Given the description of an element on the screen output the (x, y) to click on. 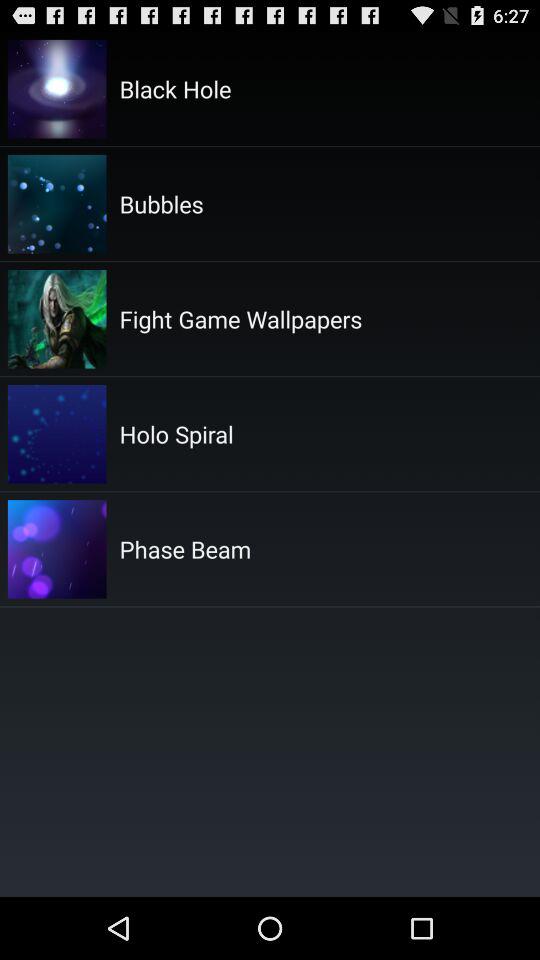
jump until the holo spiral (176, 434)
